Given the description of an element on the screen output the (x, y) to click on. 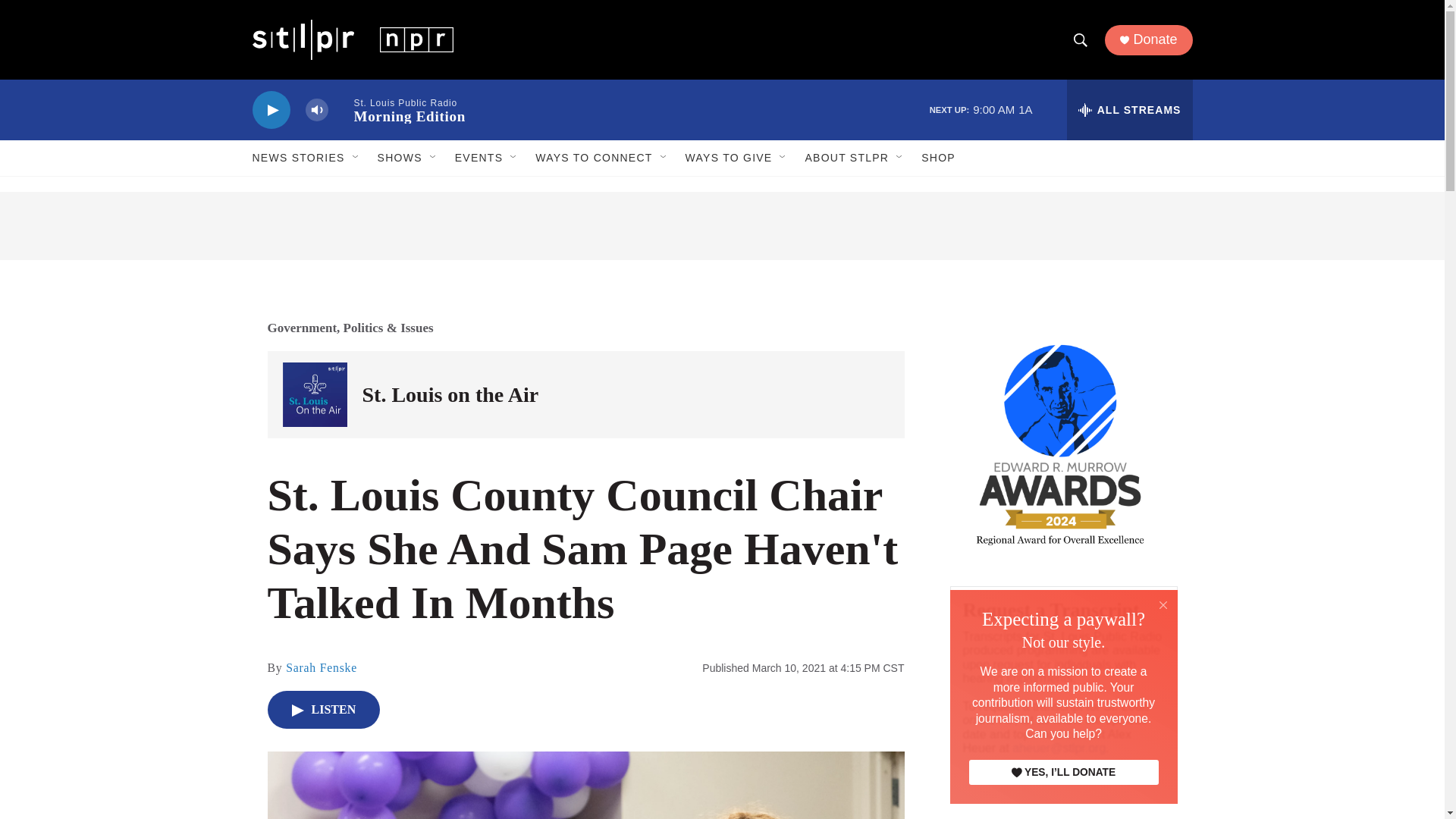
3rd party ad content (721, 225)
Close (1162, 604)
3rd party ad content (1062, 814)
Close (1162, 605)
